Given the description of an element on the screen output the (x, y) to click on. 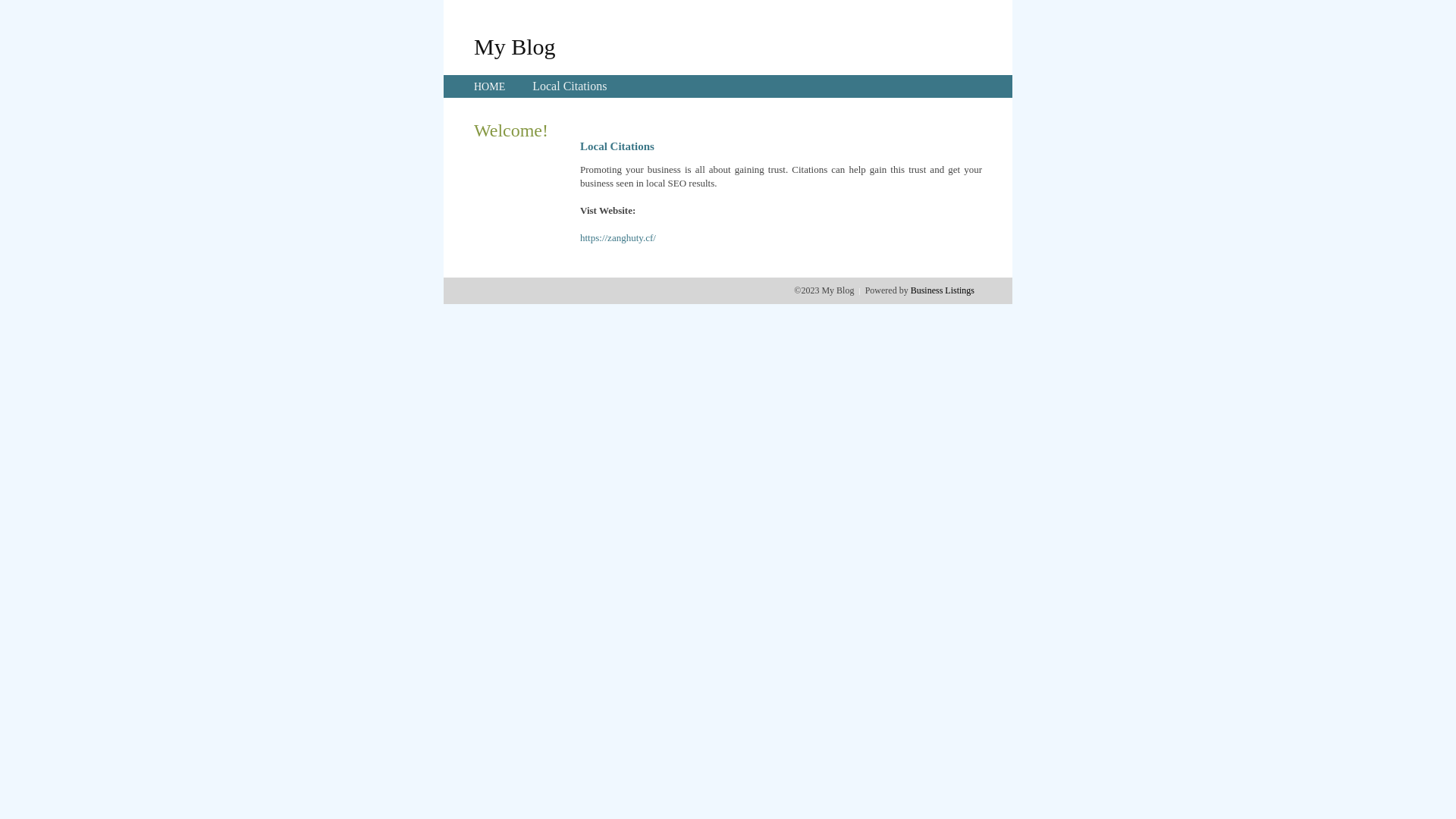
My Blog Element type: text (514, 46)
https://zanghuty.cf/ Element type: text (617, 237)
Business Listings Element type: text (942, 290)
Local Citations Element type: text (569, 85)
HOME Element type: text (489, 86)
